Given the description of an element on the screen output the (x, y) to click on. 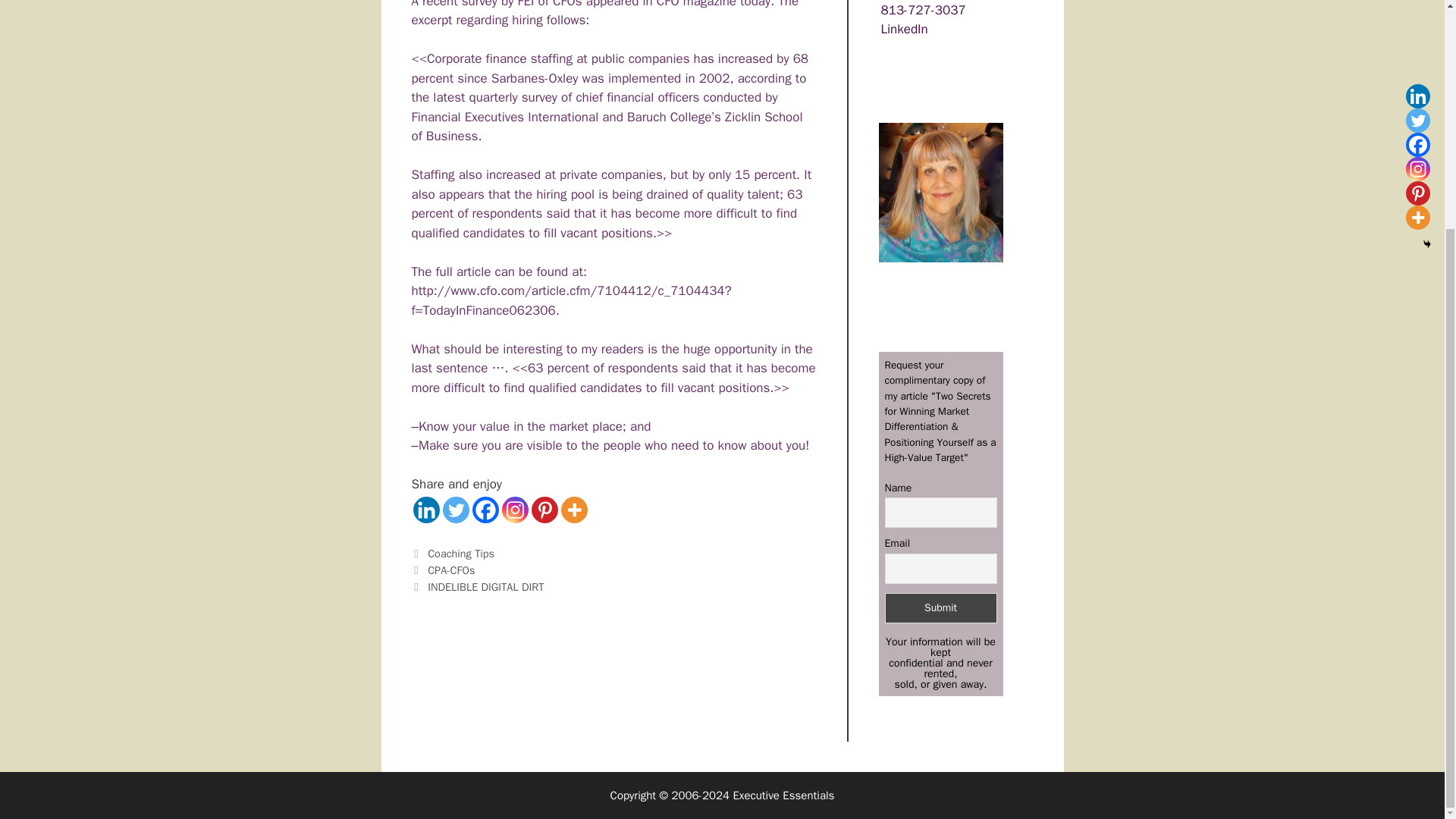
More (574, 509)
LinkedIn (904, 28)
Twitter (455, 509)
INDELIBLE DIGITAL DIRT (485, 586)
Facebook (484, 509)
813-727-3037 (923, 10)
CPA-CFOs (451, 570)
Linkedin (425, 509)
Instagram (515, 509)
Pinterest (544, 509)
